Given the description of an element on the screen output the (x, y) to click on. 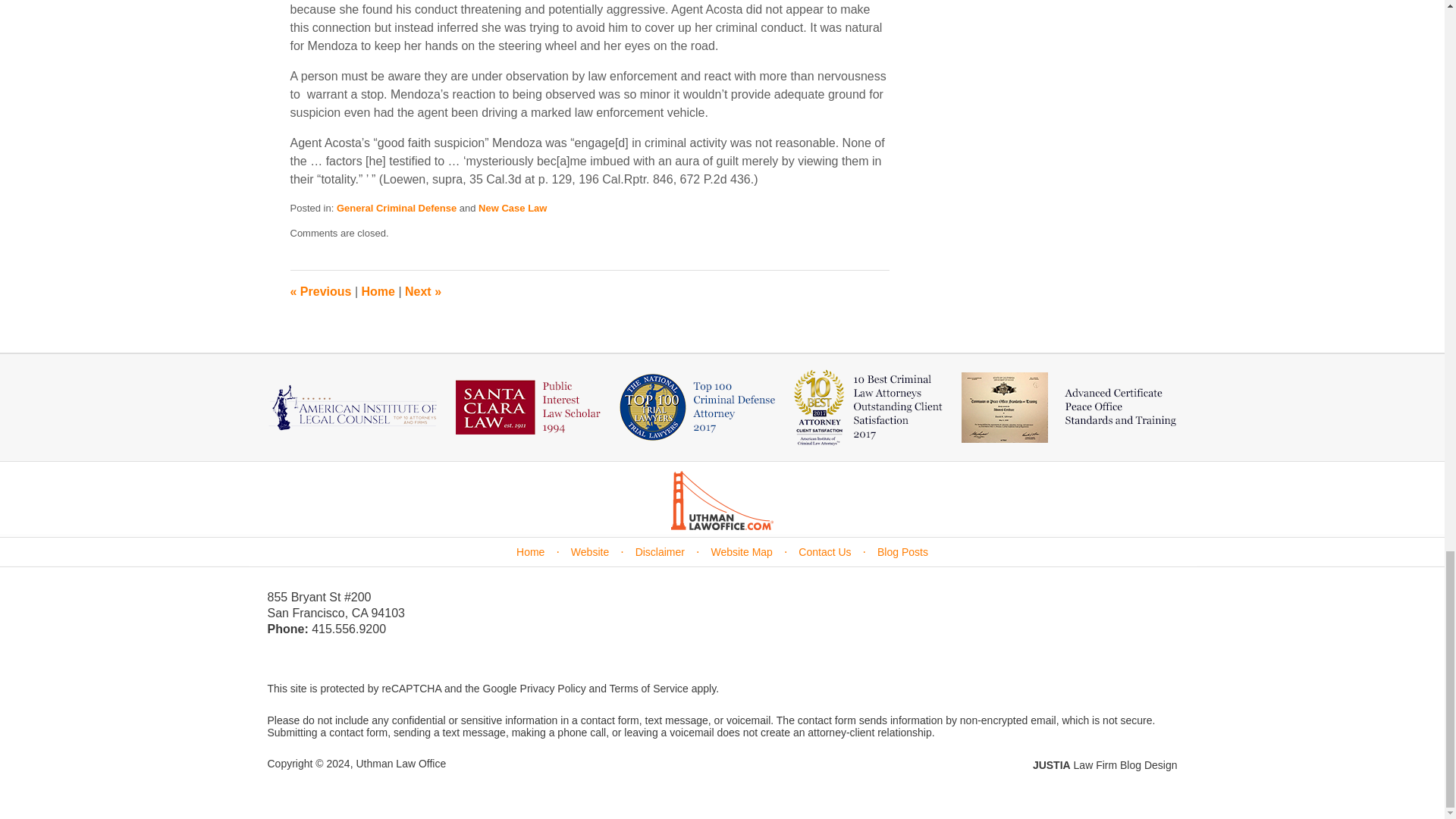
Home (377, 291)
New Case Law (513, 207)
View all posts in General Criminal Defense (396, 207)
General Criminal Defense (396, 207)
SB 1437 hearings in SF Superior Court Dept 25 (319, 291)
View all posts in New Case Law (513, 207)
